Given the description of an element on the screen output the (x, y) to click on. 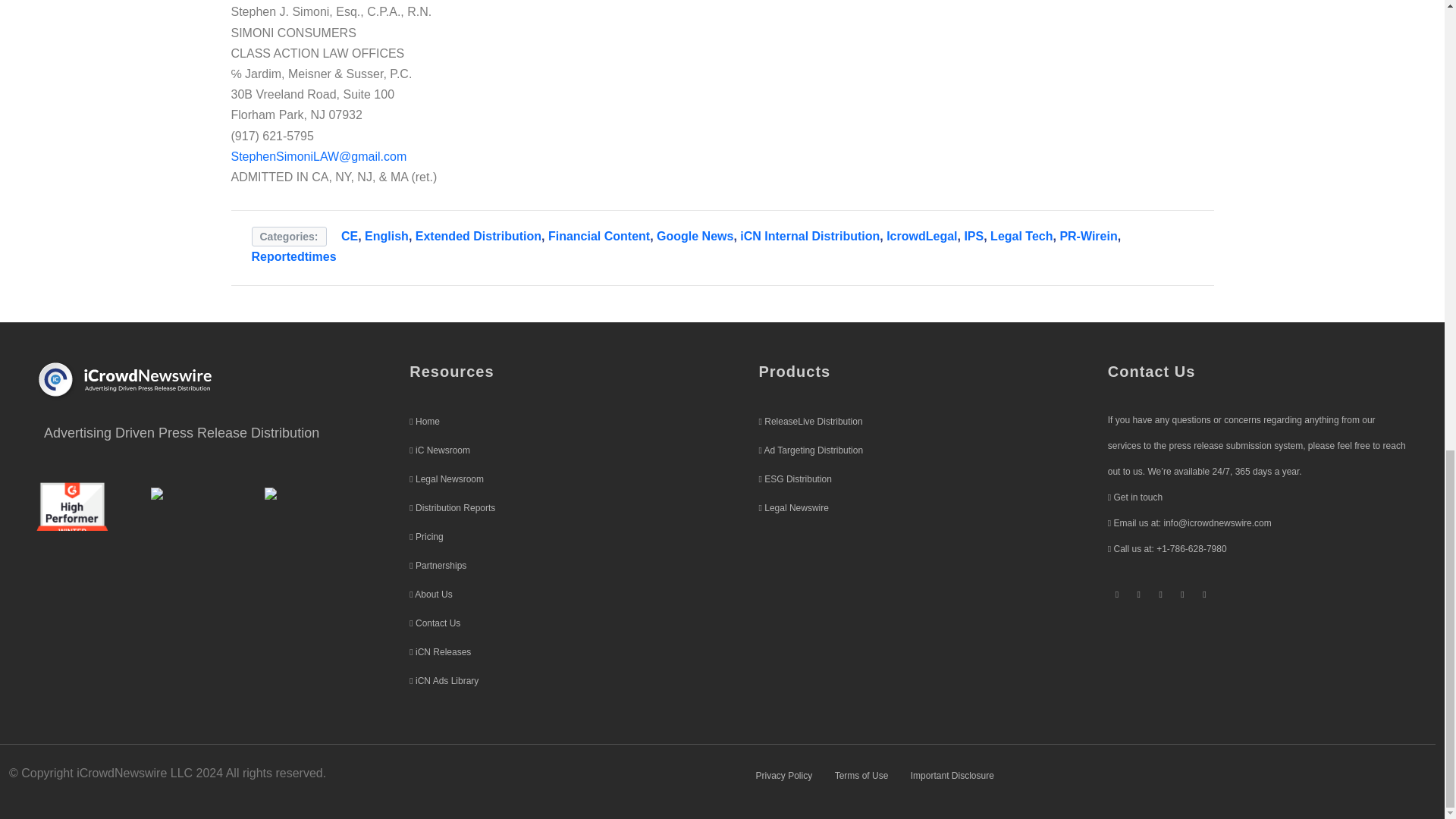
IcrowdLegal (921, 236)
Extended Distribution (477, 236)
iCN Internal Distribution (809, 236)
PR-Wirein (1087, 236)
Google News (694, 236)
Legal Tech (1021, 236)
English (387, 236)
Financial Content (598, 236)
IPS (973, 236)
CE (349, 236)
